Given the description of an element on the screen output the (x, y) to click on. 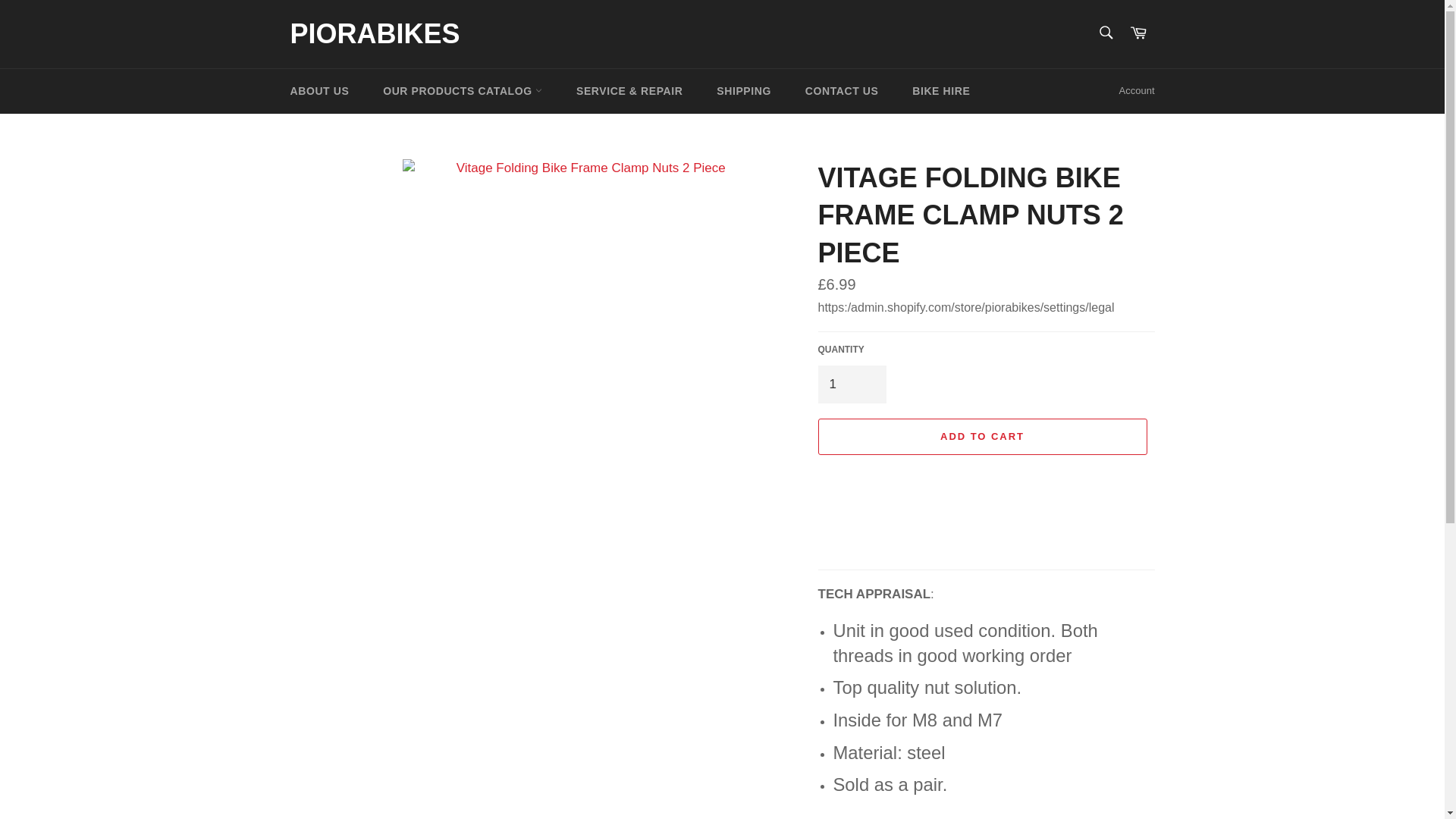
Cart (1138, 33)
PIORABIKES (374, 34)
1 (850, 383)
Search (1104, 32)
OUR PRODUCTS CATALOG (462, 90)
ABOUT US (319, 90)
